Given the description of an element on the screen output the (x, y) to click on. 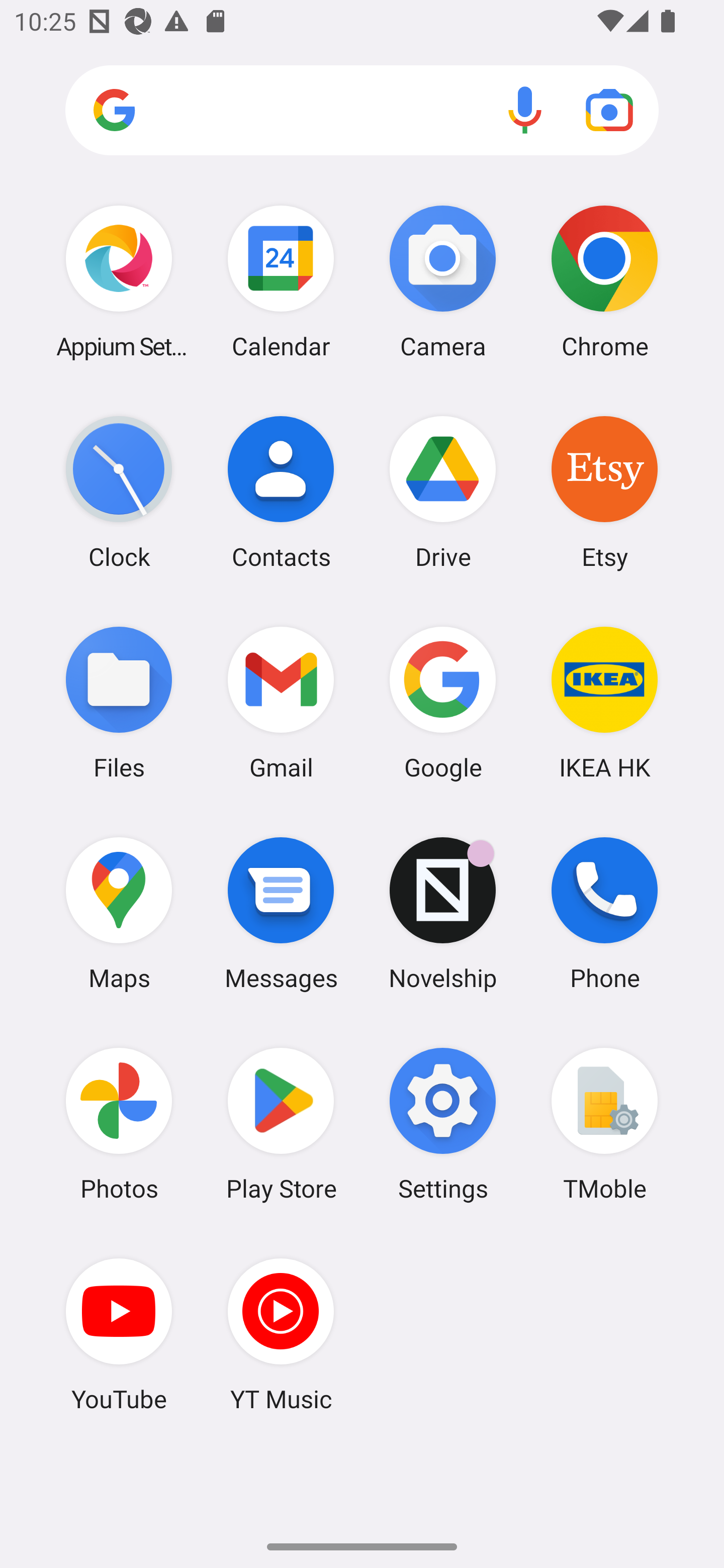
Search apps, web and more (361, 110)
Voice search (524, 109)
Google Lens (608, 109)
Appium Settings (118, 281)
Calendar (280, 281)
Camera (443, 281)
Chrome (604, 281)
Clock (118, 492)
Contacts (280, 492)
Drive (443, 492)
Etsy (604, 492)
Files (118, 702)
Gmail (280, 702)
Google (443, 702)
IKEA HK (604, 702)
Maps (118, 913)
Messages (280, 913)
Novelship Novelship has 1 notification (443, 913)
Phone (604, 913)
Photos (118, 1124)
Play Store (280, 1124)
Settings (443, 1124)
TMoble (604, 1124)
YouTube (118, 1334)
YT Music (280, 1334)
